Given the description of an element on the screen output the (x, y) to click on. 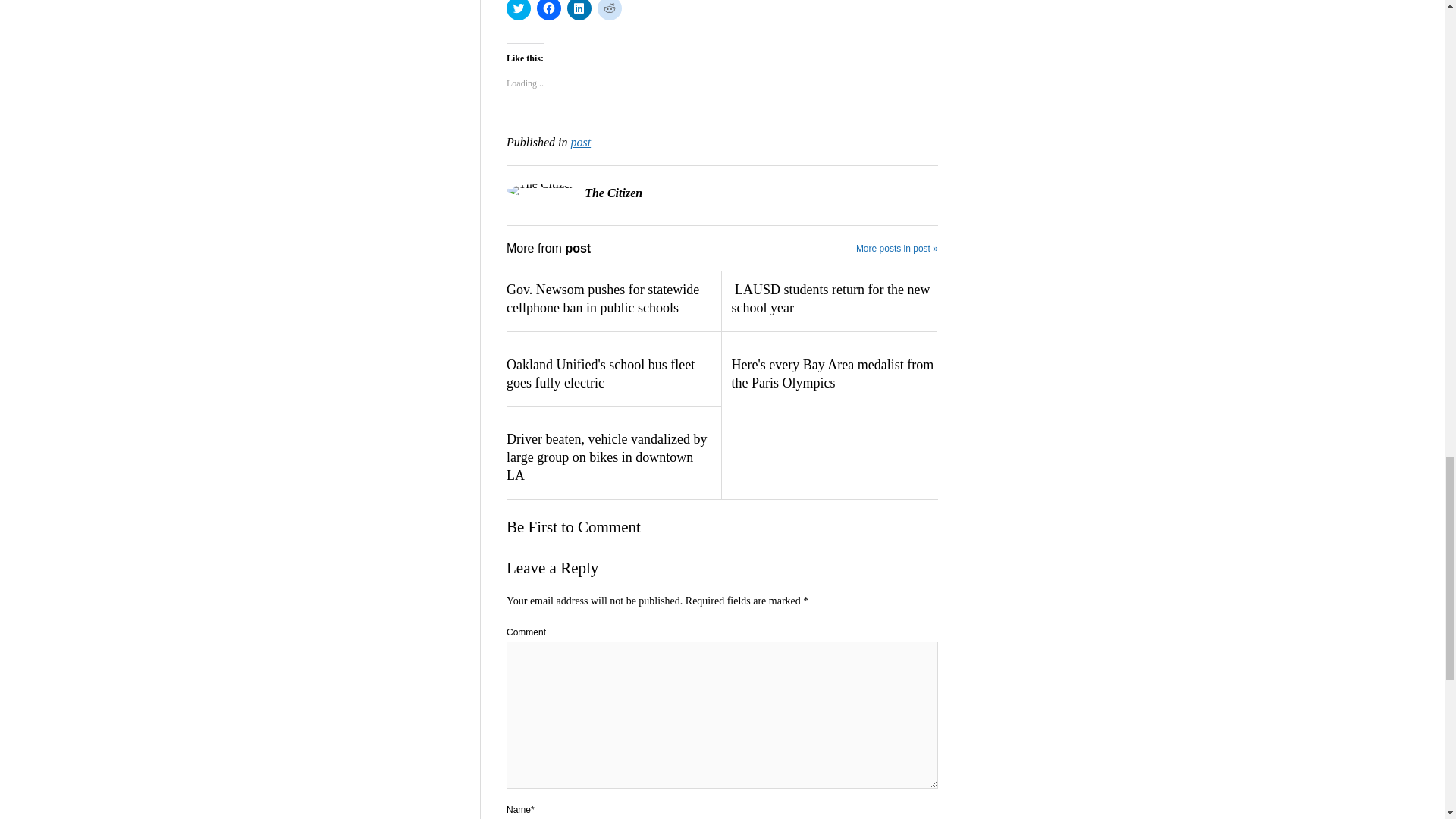
View all posts in post (580, 141)
Click to share on Facebook (548, 10)
Click to share on Twitter (518, 10)
Click to share on LinkedIn (579, 10)
Click to share on Reddit (608, 10)
